Given the description of an element on the screen output the (x, y) to click on. 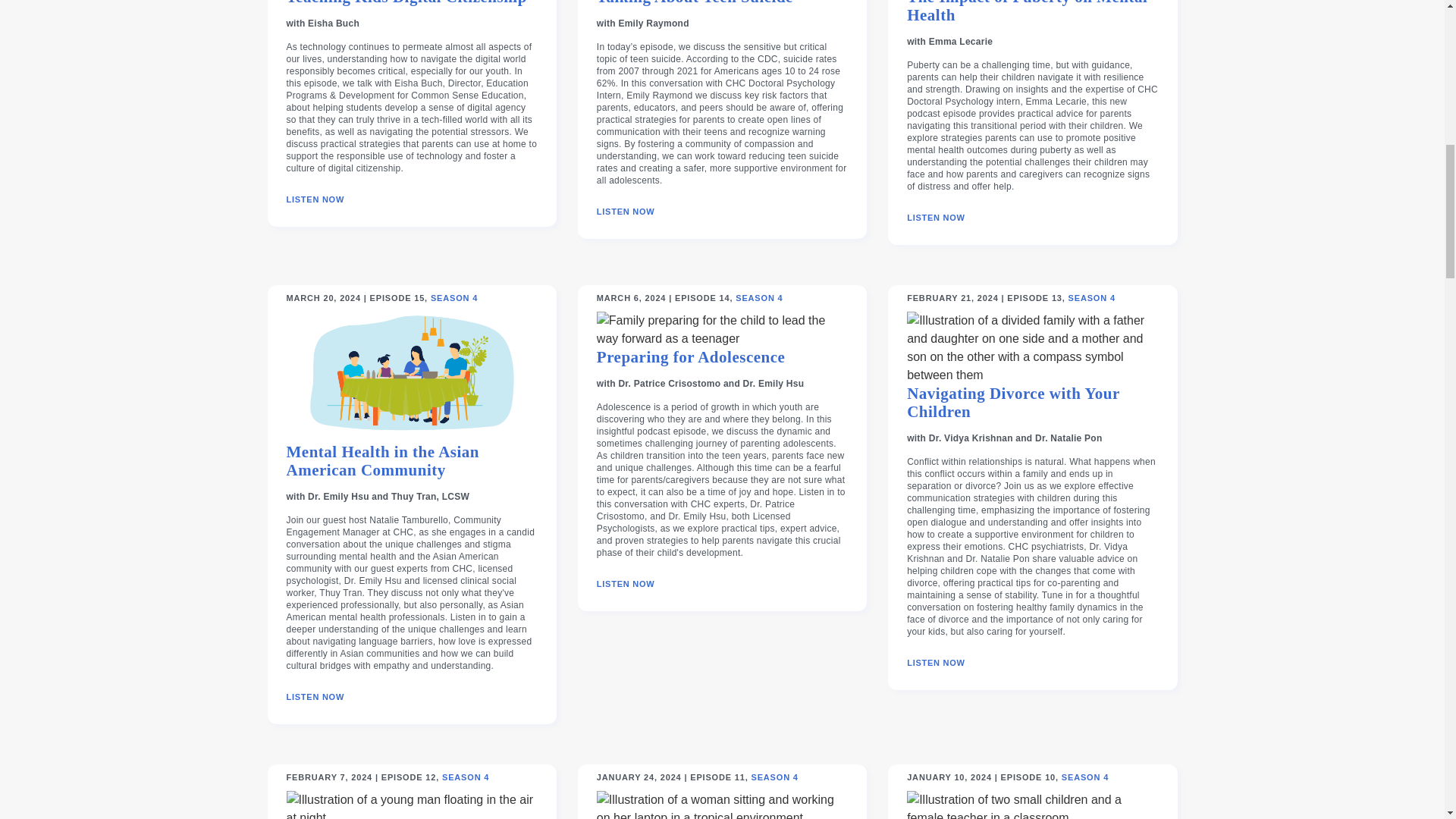
Navigating Divorce with Your Children (1032, 408)
LISTEN NOW (315, 199)
Teaching Kids Digital Citizenship (406, 8)
Talking About Teen Suicide (694, 8)
Preparing for Adolescence (691, 362)
View the post titled 'Talking About Teen Suicide'. (694, 8)
LISTEN NOW (625, 211)
